Given the description of an element on the screen output the (x, y) to click on. 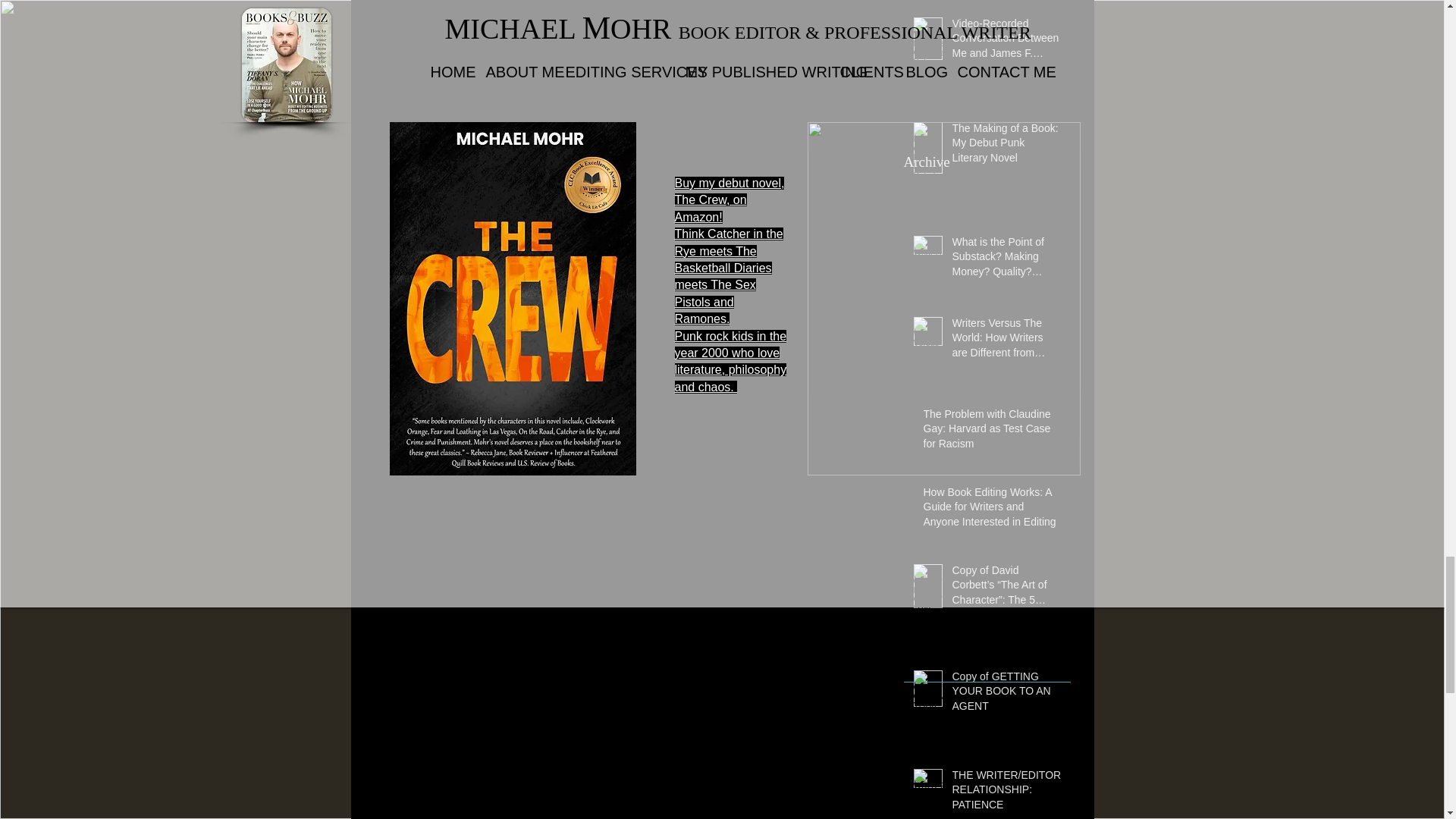
The Making of a Book: My Debut Punk Literary Novel (1006, 146)
Copy of GETTING YOUR BOOK TO AN AGENT (1006, 694)
